Given the description of an element on the screen output the (x, y) to click on. 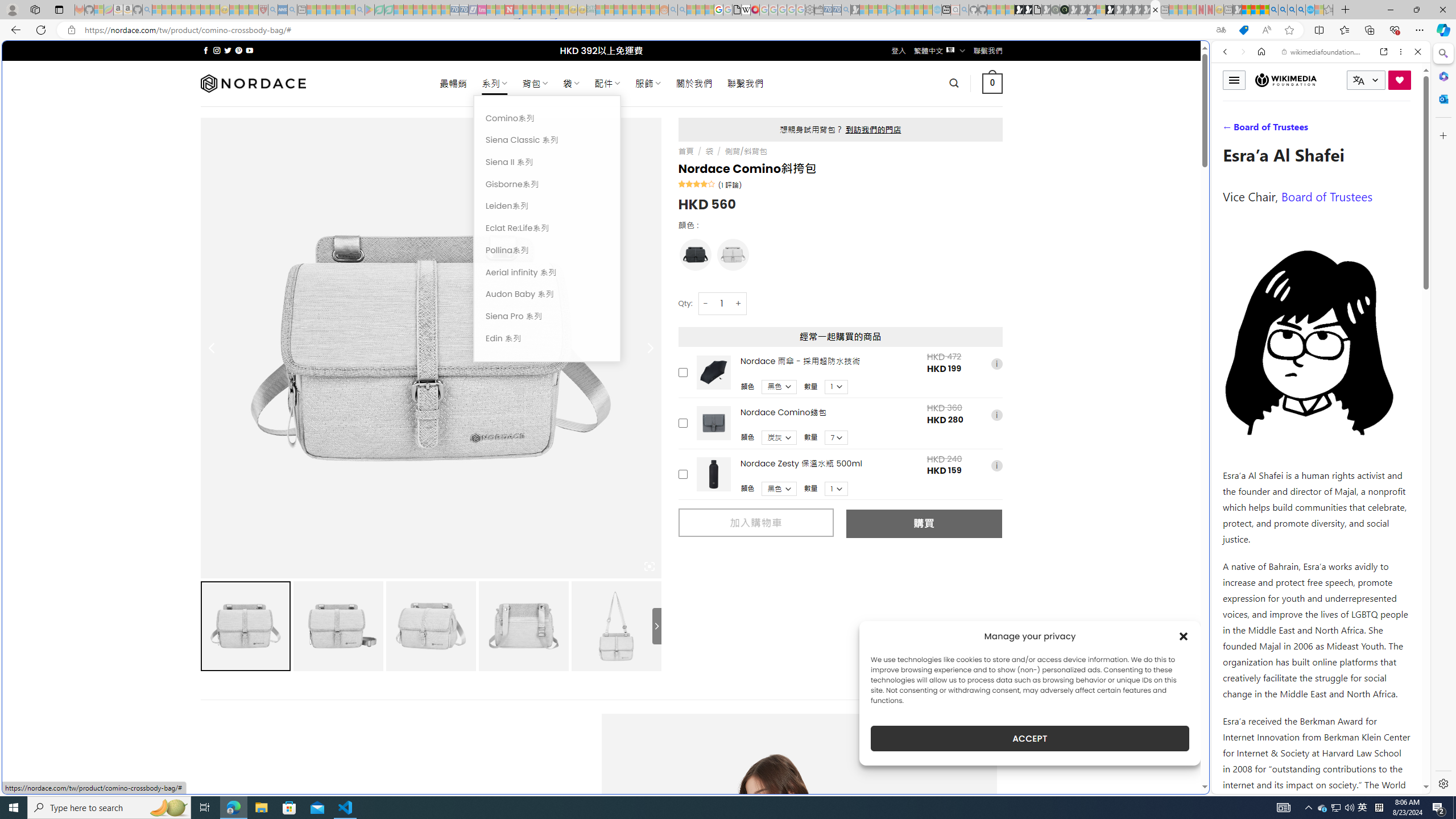
Add this product to cart (682, 474)
Close Customize pane (1442, 135)
Forward (1242, 51)
New tab - Sleeping (1227, 9)
 0  (992, 83)
Class: iconic-woothumbs-fullscreen (649, 566)
google_privacy_policy_zh-CN.pdf (1118, 683)
Follow on YouTube (249, 50)
